Given the description of an element on the screen output the (x, y) to click on. 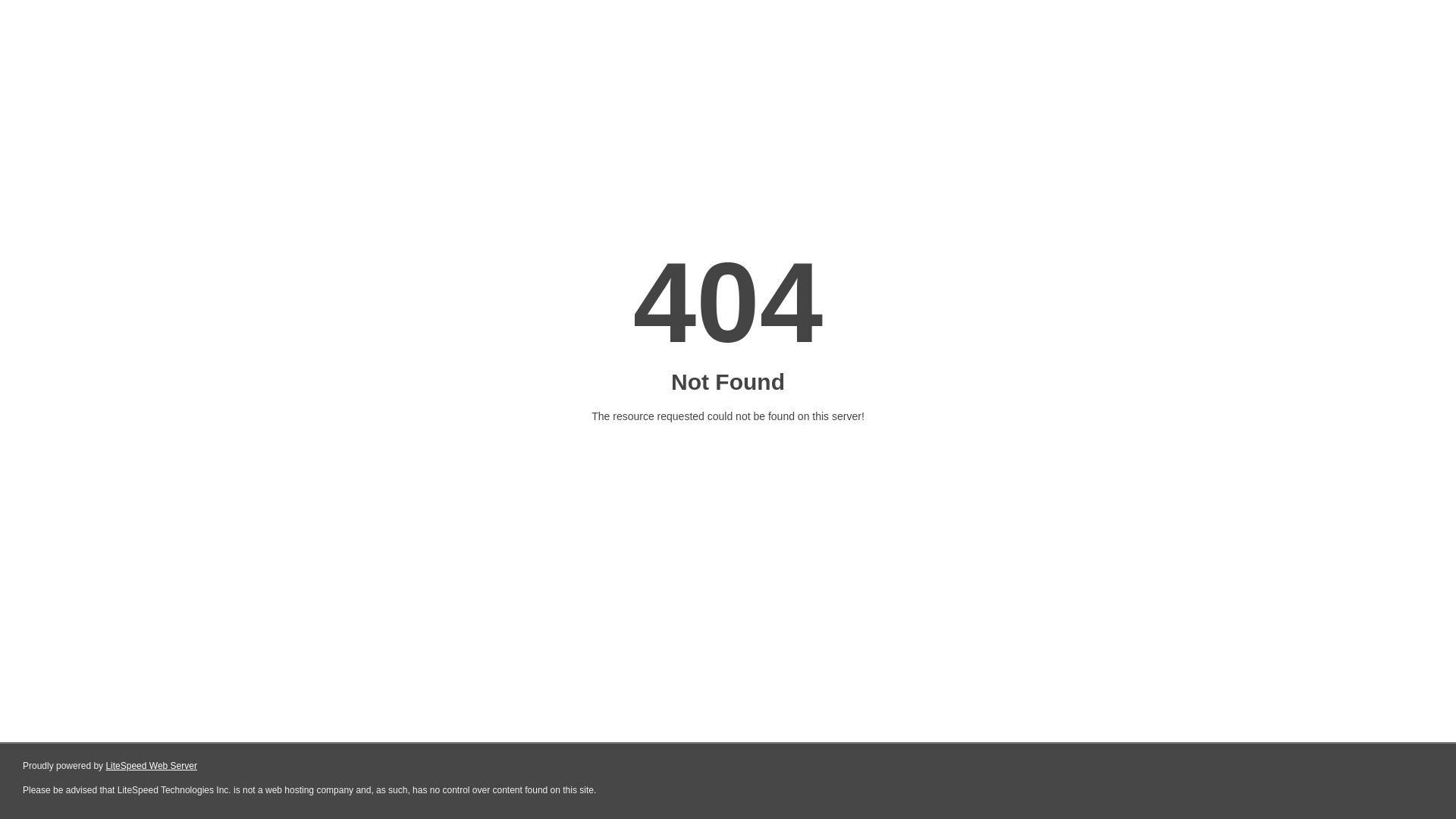
LiteSpeed Web Server Element type: text (151, 765)
